Given the description of an element on the screen output the (x, y) to click on. 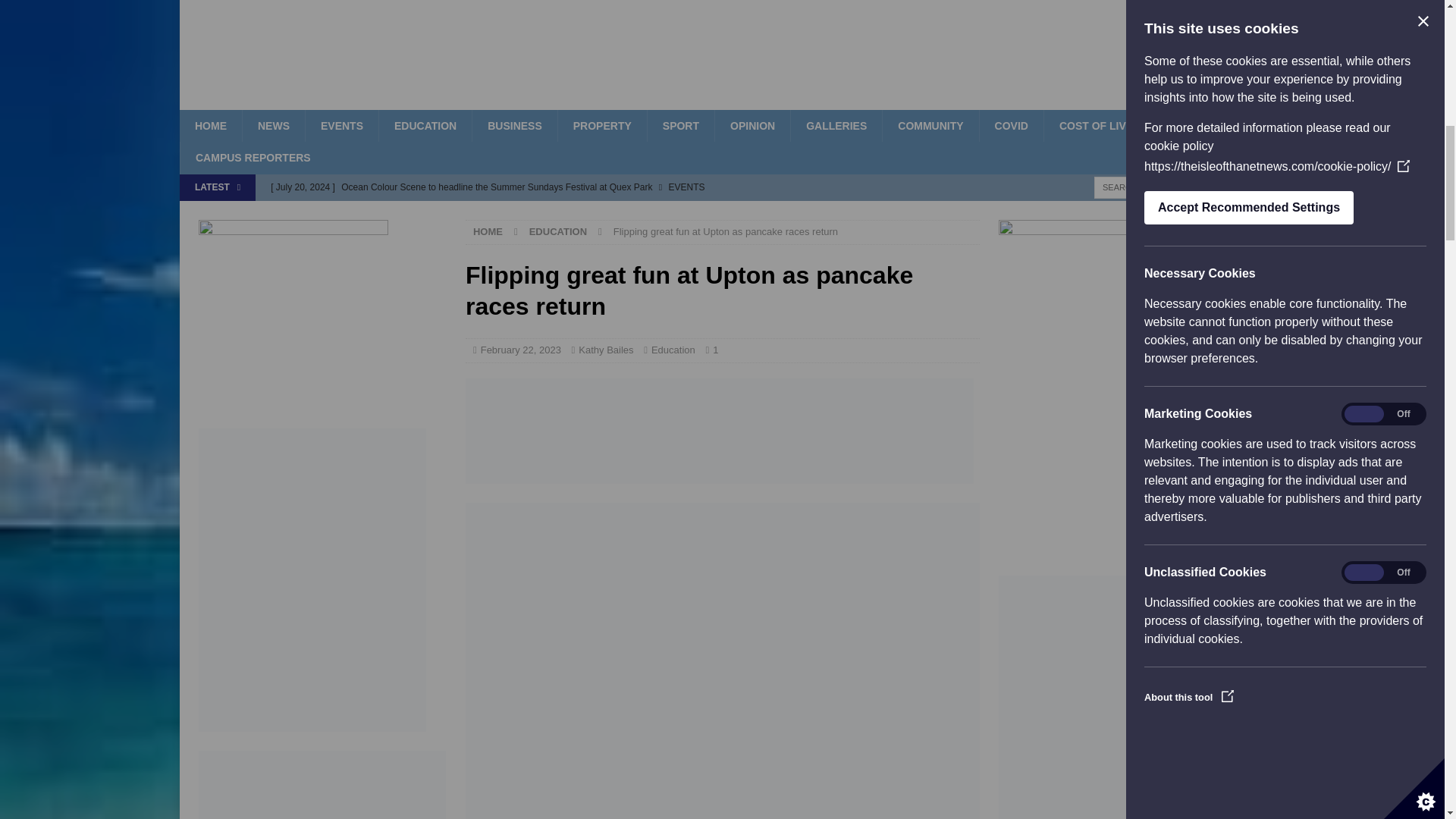
1 (715, 349)
